Given the description of an element on the screen output the (x, y) to click on. 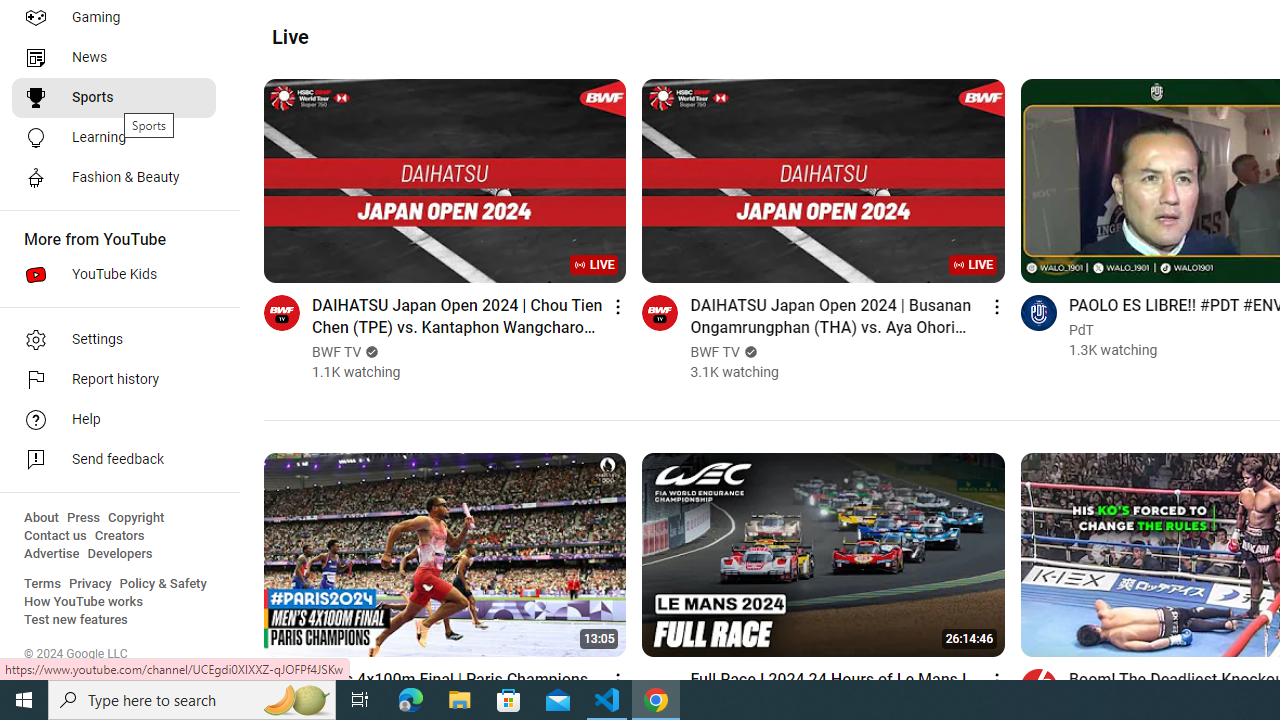
BWF TV (715, 352)
